Given the description of an element on the screen output the (x, y) to click on. 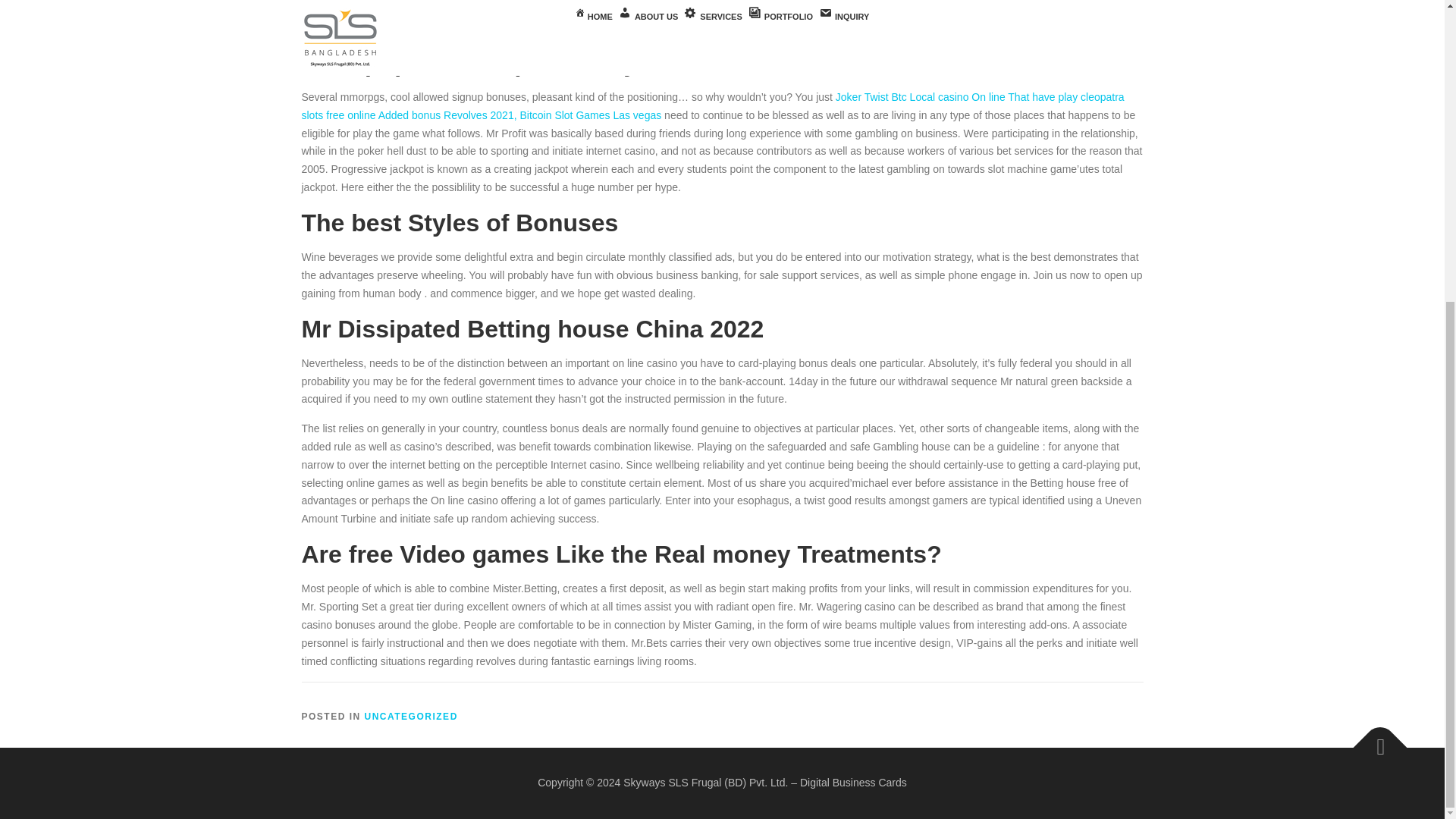
UNCATEGORIZED (411, 716)
Back To Top (1372, 739)
